Given the description of an element on the screen output the (x, y) to click on. 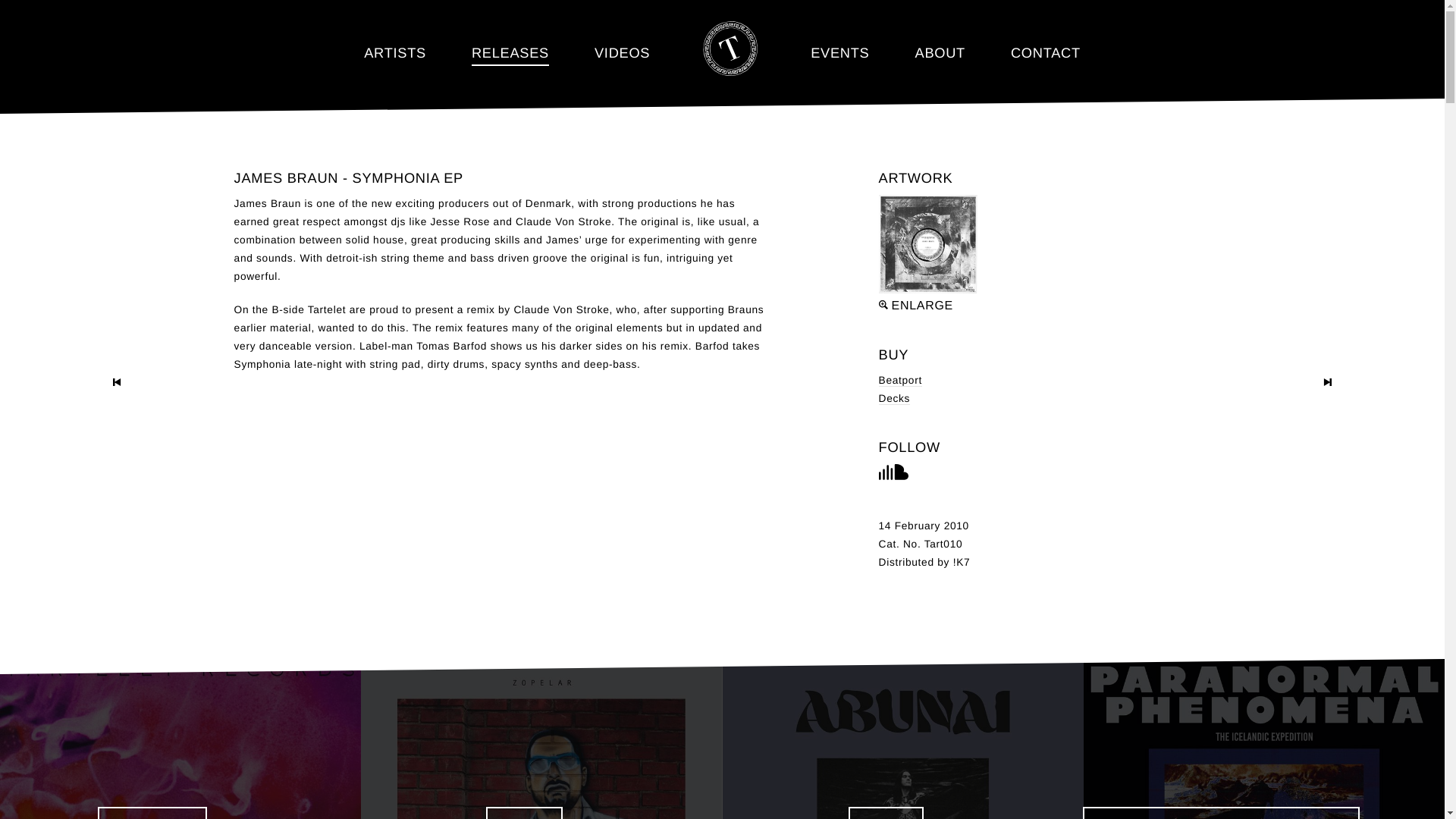
Beatport (900, 380)
CHARME LP (541, 739)
EVENTS (839, 40)
MEDUSOZOA VOL II (180, 739)
CONTACT (1045, 40)
Decks (895, 398)
ABOUT (938, 40)
VIDEOS (621, 40)
RELEASES (509, 40)
ARTISTS (395, 40)
CHRYSALIS (902, 739)
